Given the description of an element on the screen output the (x, y) to click on. 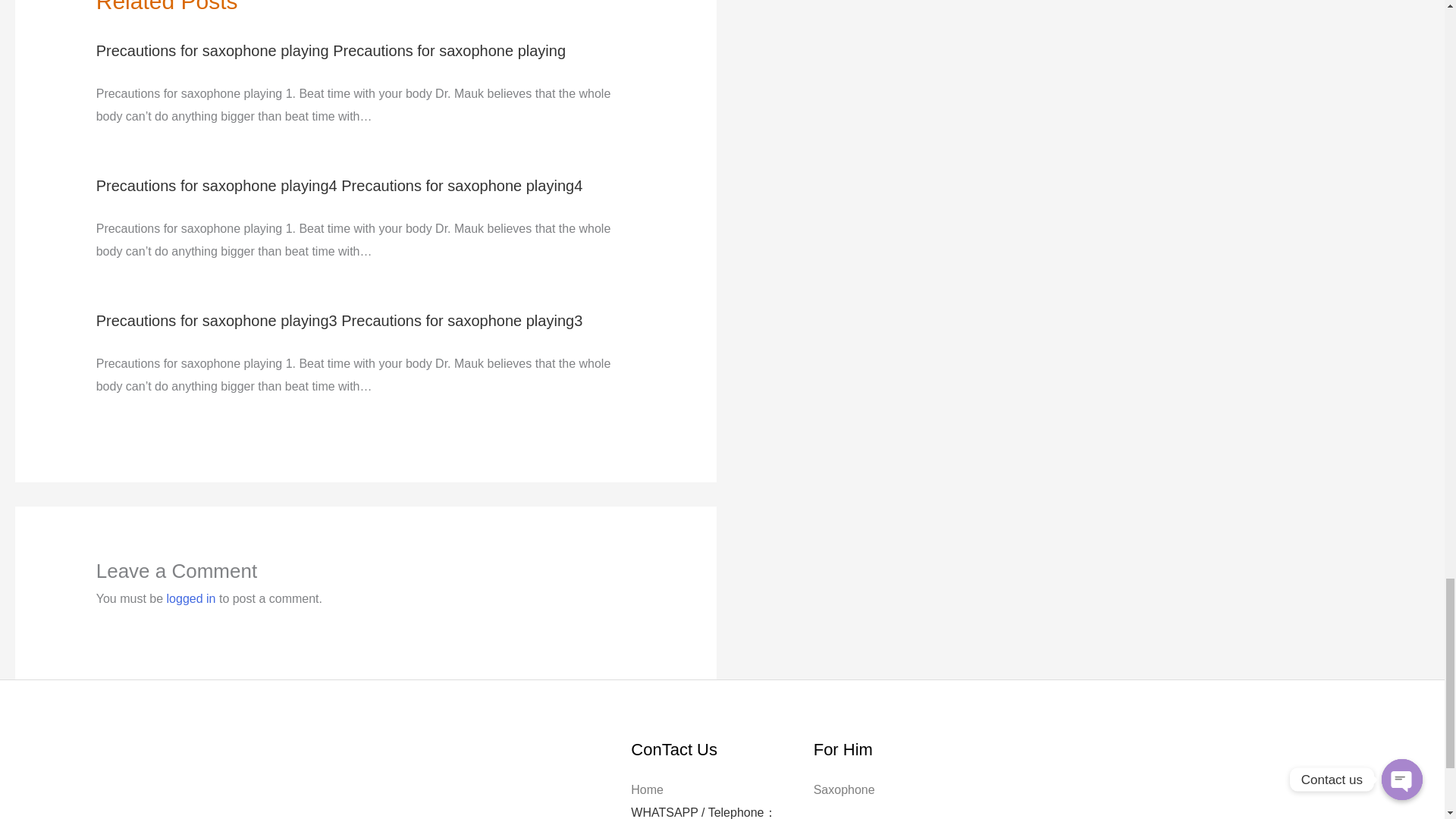
logged in (191, 598)
